Given the description of an element on the screen output the (x, y) to click on. 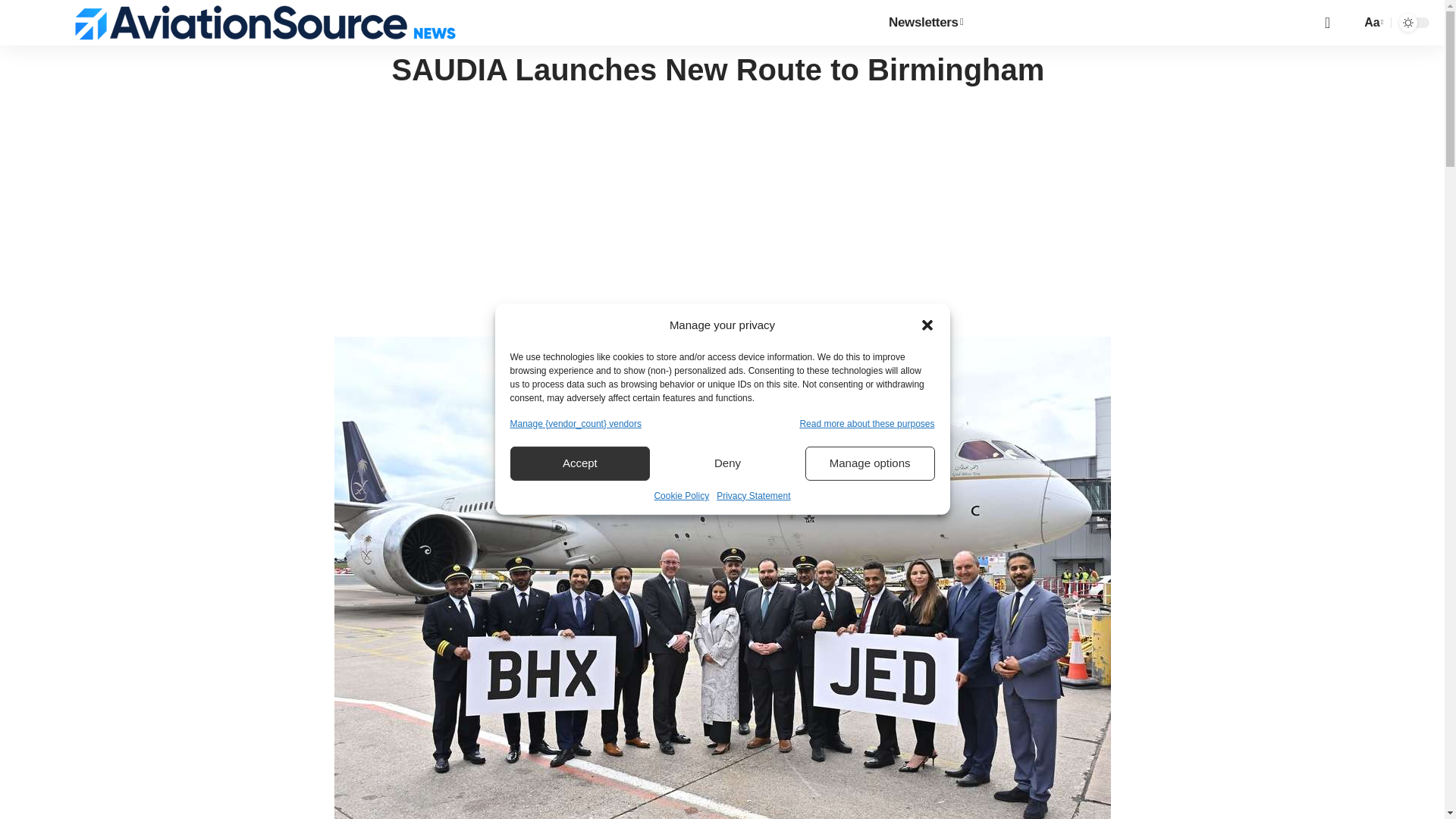
Privacy Statement (753, 495)
Newsletters (925, 22)
Aa (1371, 22)
Cookie Policy (681, 495)
Accept (579, 463)
Manage options (869, 463)
Read more about these purposes (866, 422)
Deny (727, 463)
AviationSource News (264, 22)
